Given the description of an element on the screen output the (x, y) to click on. 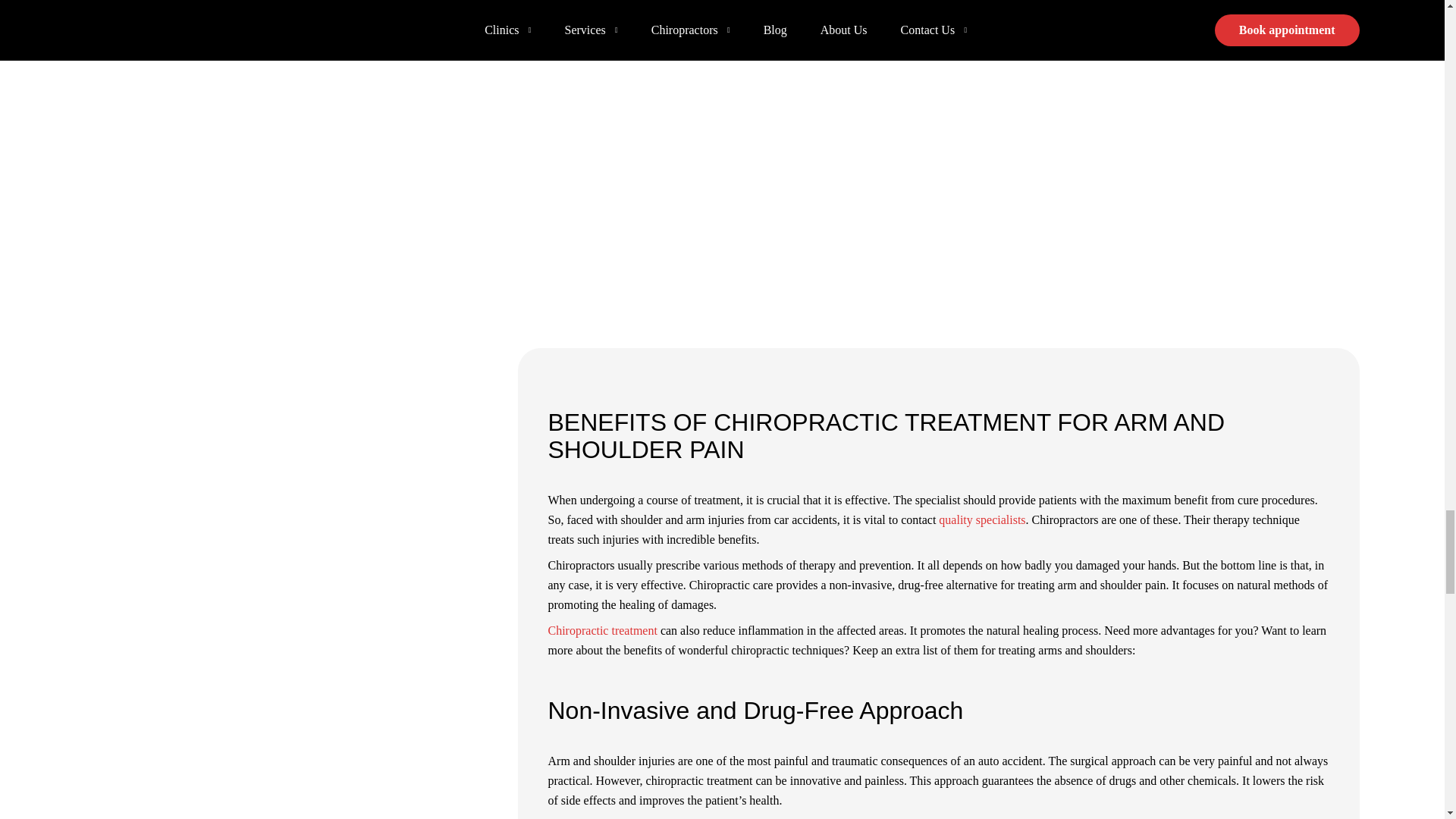
Chiropractic Adjustment in TX (601, 630)
What to Consider Before Choosing a Chiropractor (982, 519)
